Given the description of an element on the screen output the (x, y) to click on. 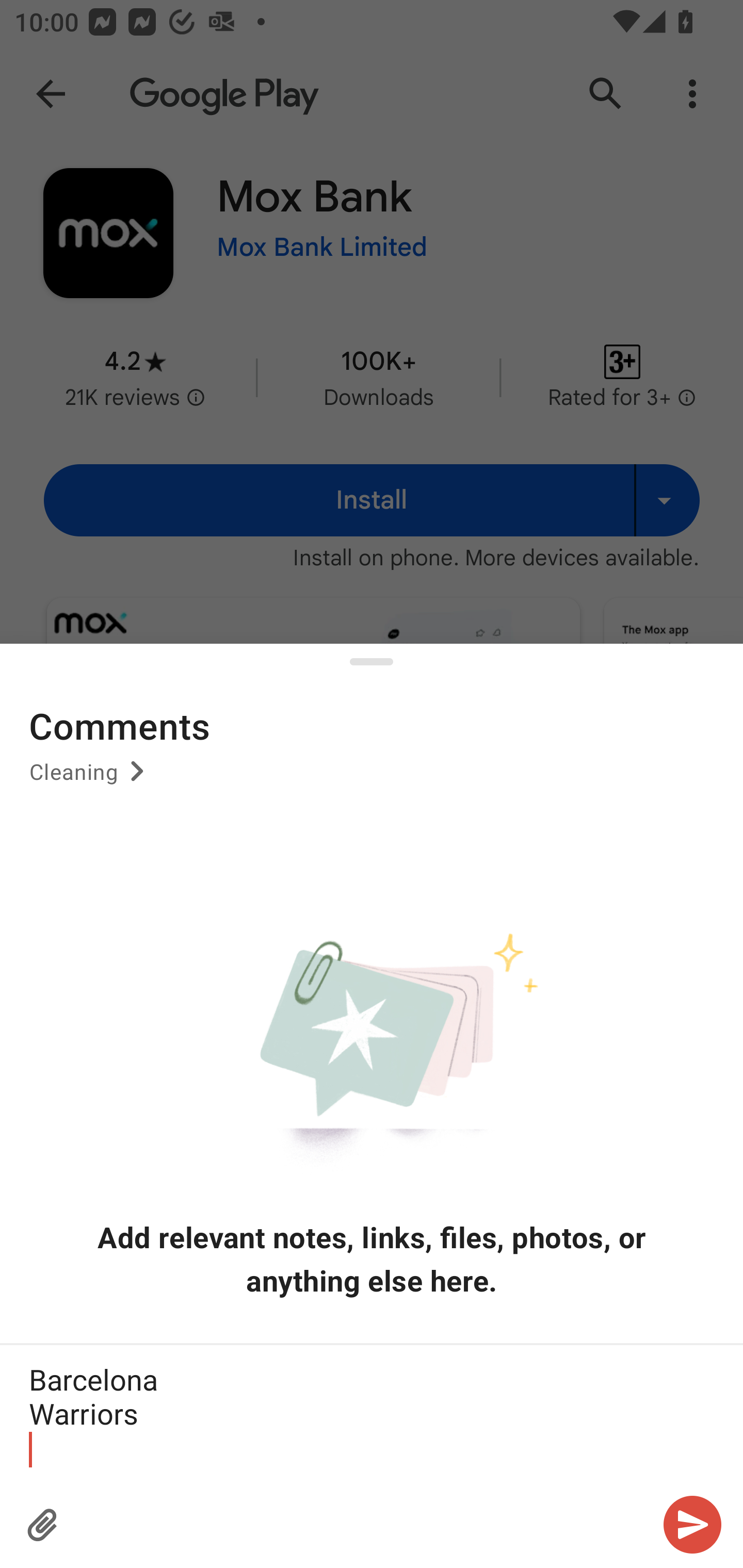
Cleaning (89, 778)
Barcelona
Warriors
 (371, 1413)
Attachment (43, 1524)
Submit (692, 1524)
